Given the description of an element on the screen output the (x, y) to click on. 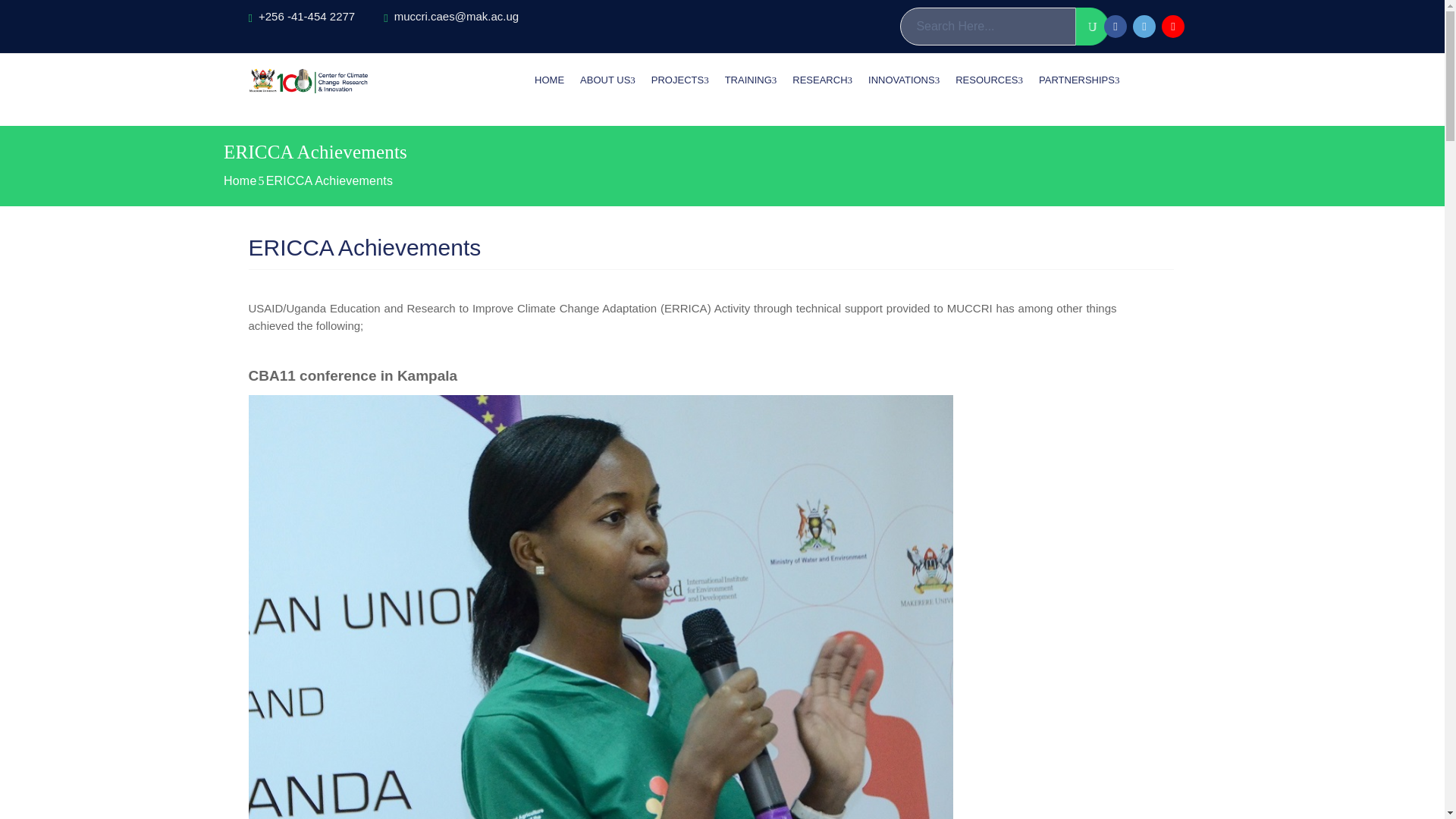
RESEARCH (822, 80)
PROJECTS (680, 80)
TRAINING (751, 80)
ABOUT US (607, 80)
